Given the description of an element on the screen output the (x, y) to click on. 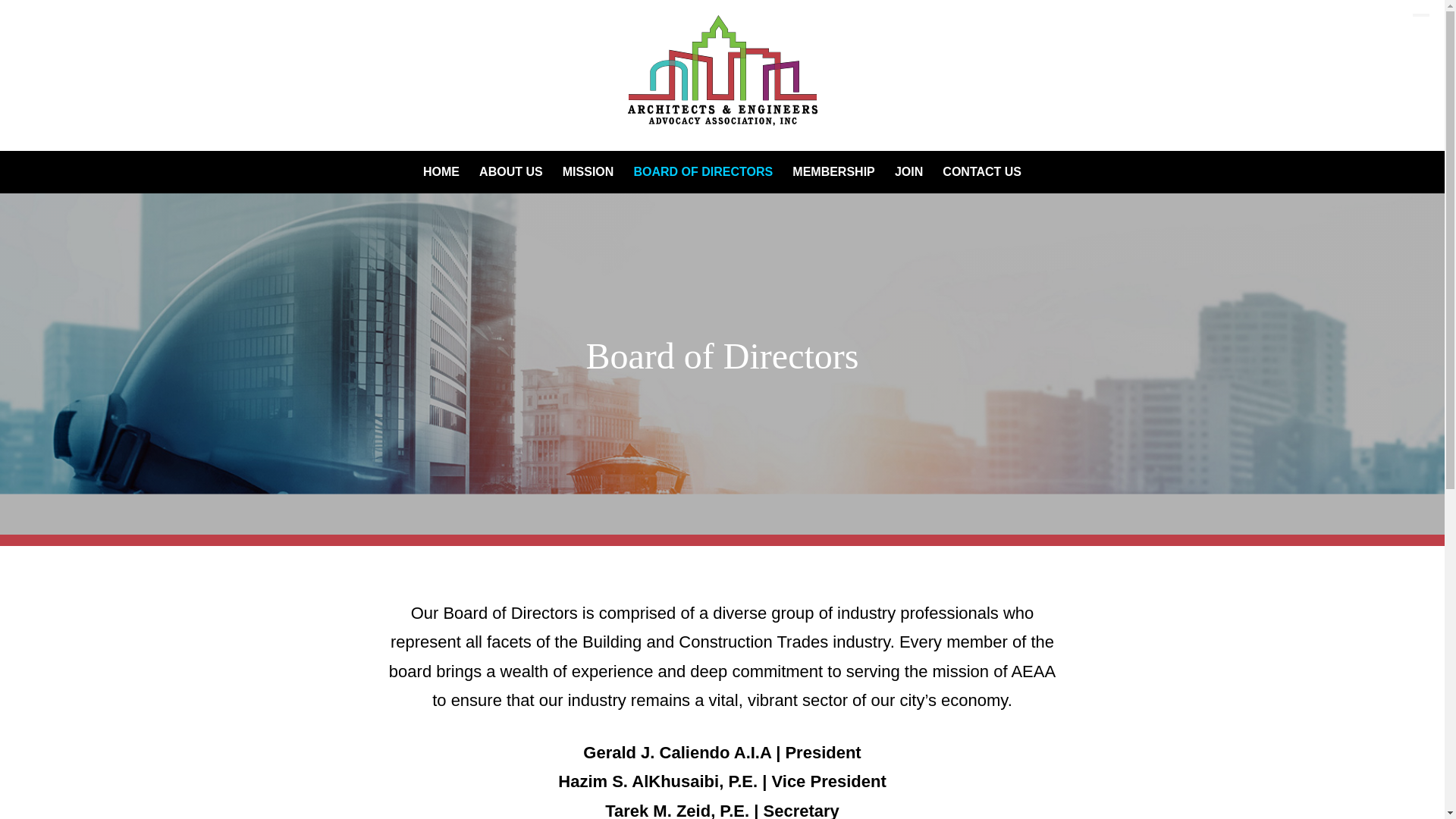
ABOUT US (510, 171)
MEMBERSHIP (833, 171)
SHOW OFFSCREEN CONTENT (1420, 14)
JOIN (908, 171)
CONTACT US (981, 171)
BOARD OF DIRECTORS (703, 171)
HOME (440, 171)
MISSION (587, 171)
